Given the description of an element on the screen output the (x, y) to click on. 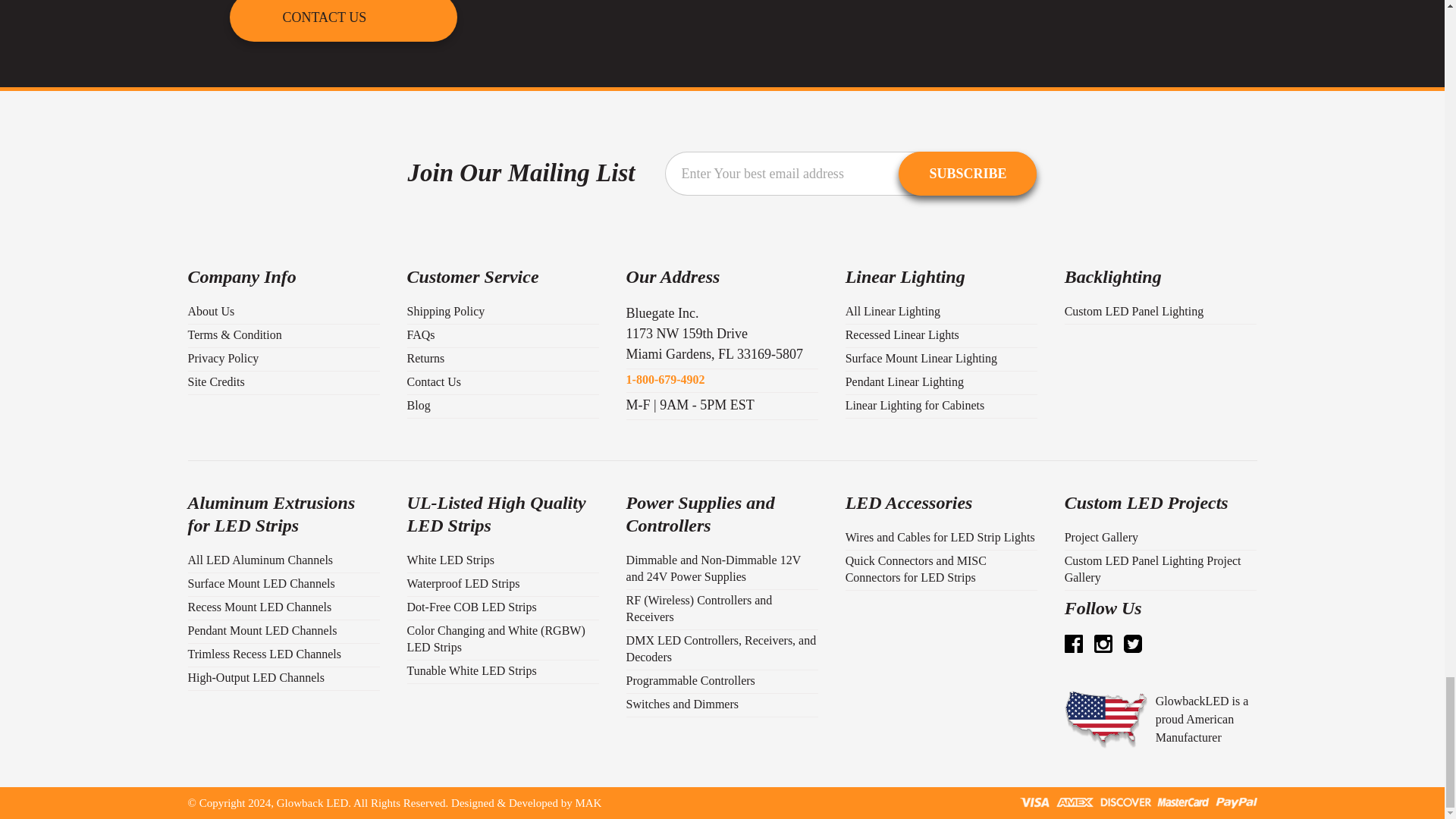
Subscribe (967, 173)
